Given the description of an element on the screen output the (x, y) to click on. 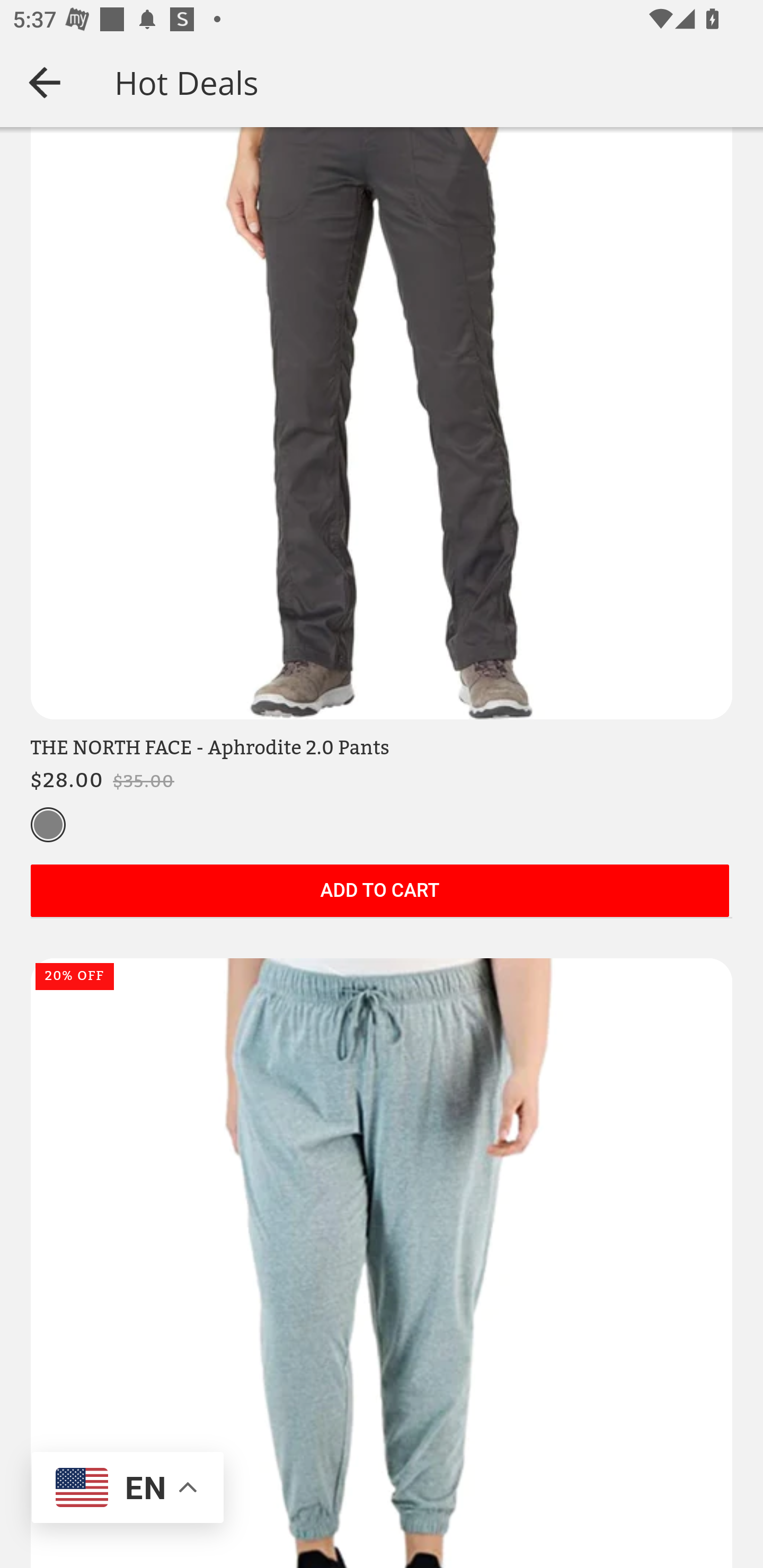
Navigate up (44, 82)
Grey (48, 827)
ADD TO CART (379, 892)
